Given the description of an element on the screen output the (x, y) to click on. 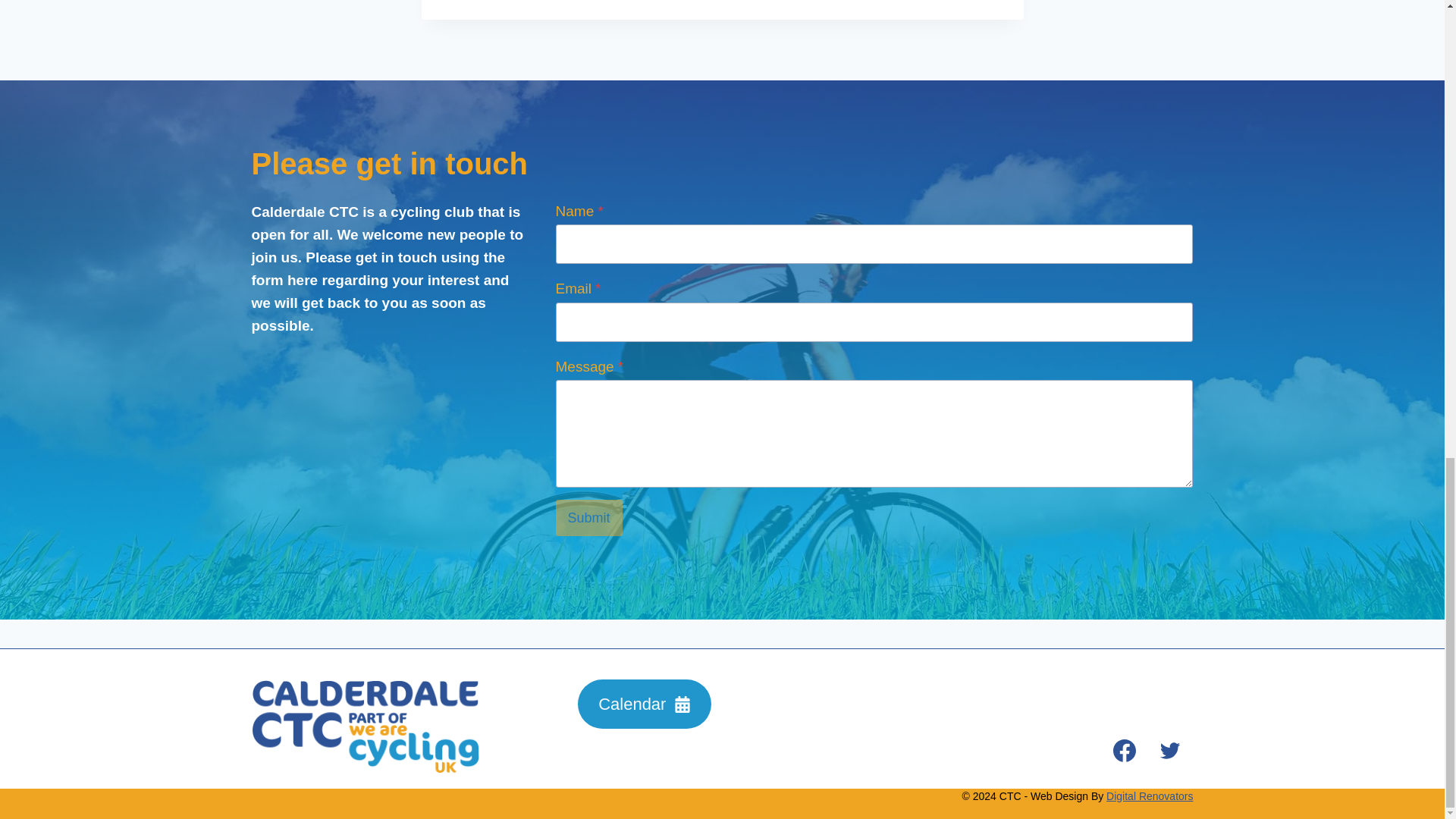
Calendar (644, 703)
Digital Renovators (1149, 796)
Submit (589, 517)
